Given the description of an element on the screen output the (x, y) to click on. 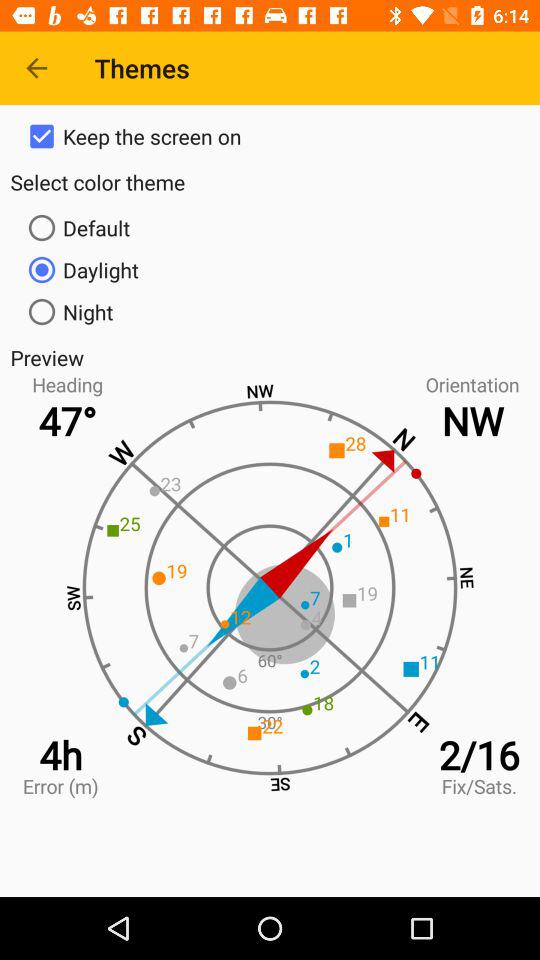
launch icon below select color theme item (270, 228)
